Given the description of an element on the screen output the (x, y) to click on. 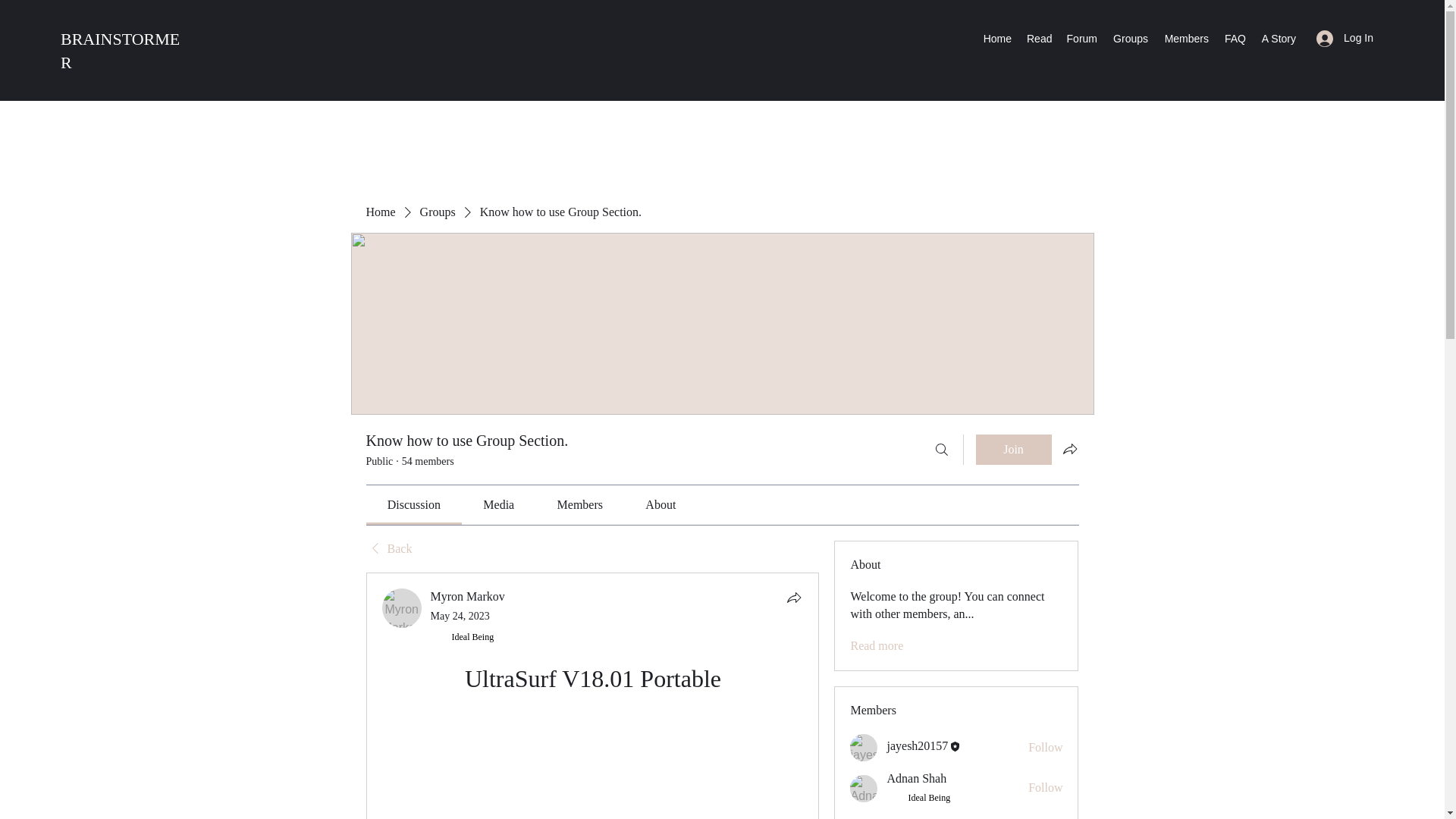
Home (379, 211)
jayesh20157 (863, 747)
Read more (876, 646)
FAQ (1234, 38)
Follow (1044, 787)
Adnan Shah (916, 778)
Members (1185, 38)
Myron Markov (467, 595)
Groups (437, 211)
A Story (1278, 38)
BRAINSTORMER (120, 50)
Adnan Shah (863, 788)
Myron Markov (401, 608)
Back (388, 548)
Home (997, 38)
